Given the description of an element on the screen output the (x, y) to click on. 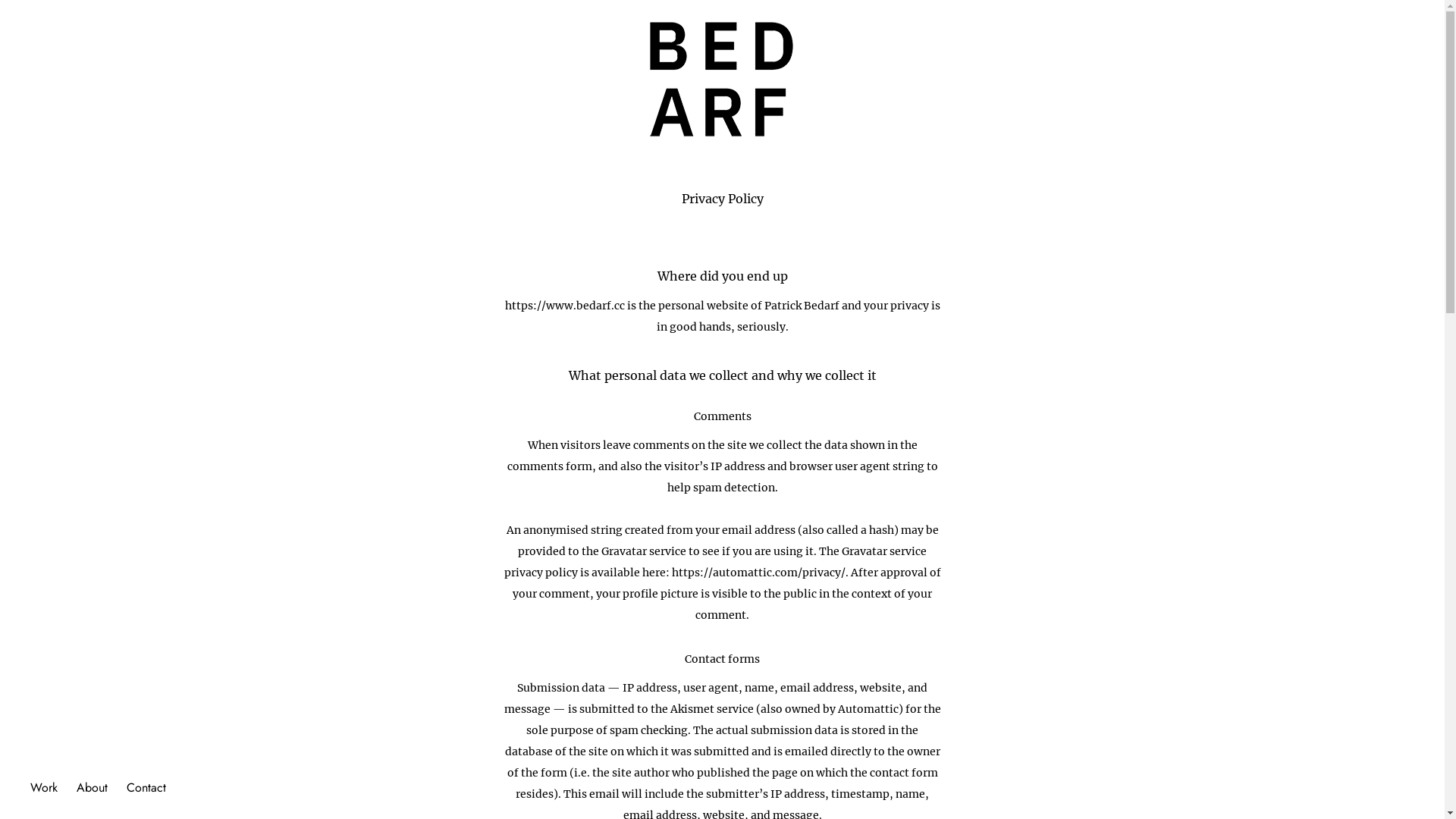
Privacy Policy Element type: text (721, 198)
Contact Element type: text (146, 783)
About Element type: text (91, 783)
Work Element type: text (43, 783)
